Given the description of an element on the screen output the (x, y) to click on. 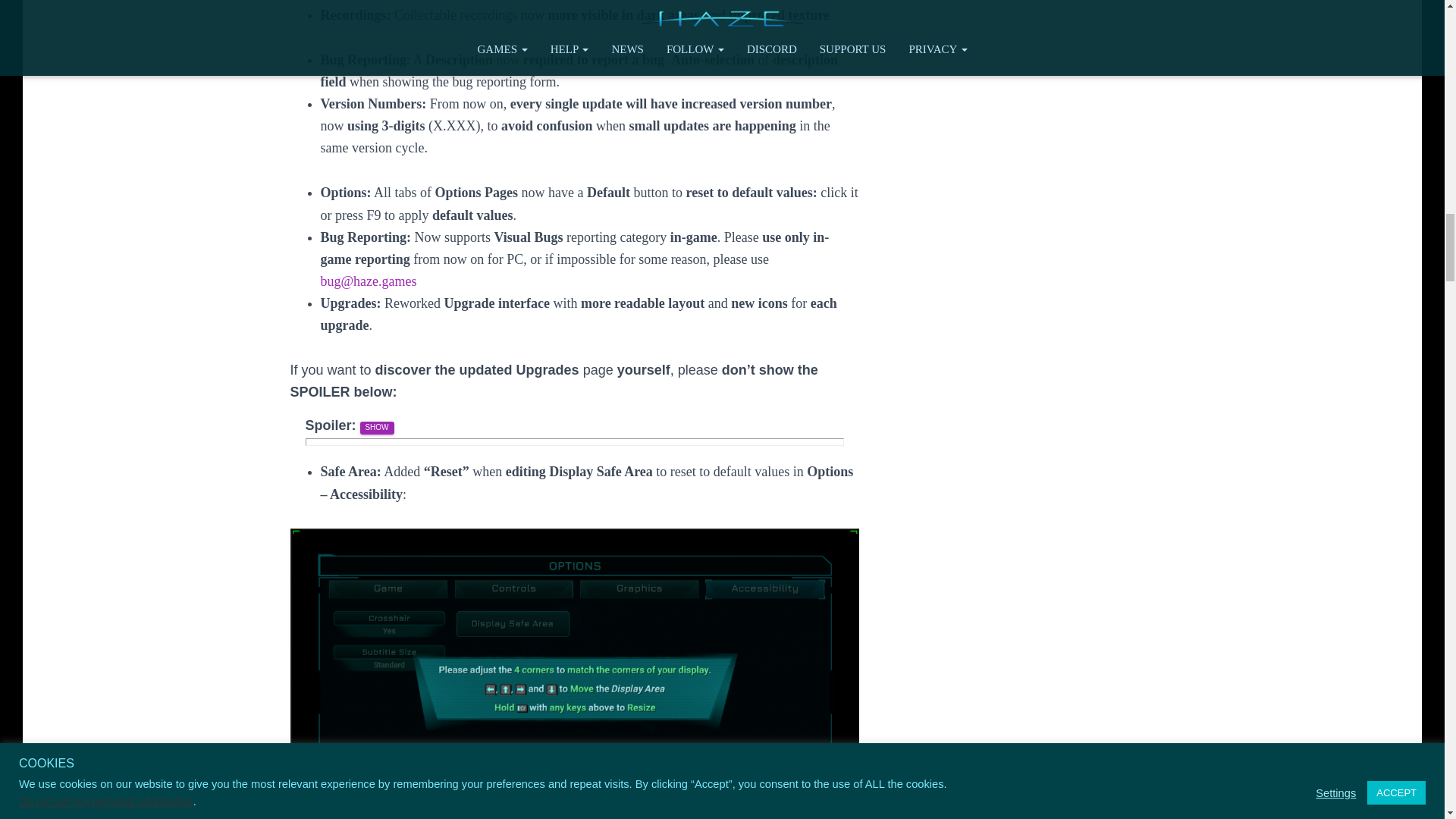
Show (376, 427)
